Given the description of an element on the screen output the (x, y) to click on. 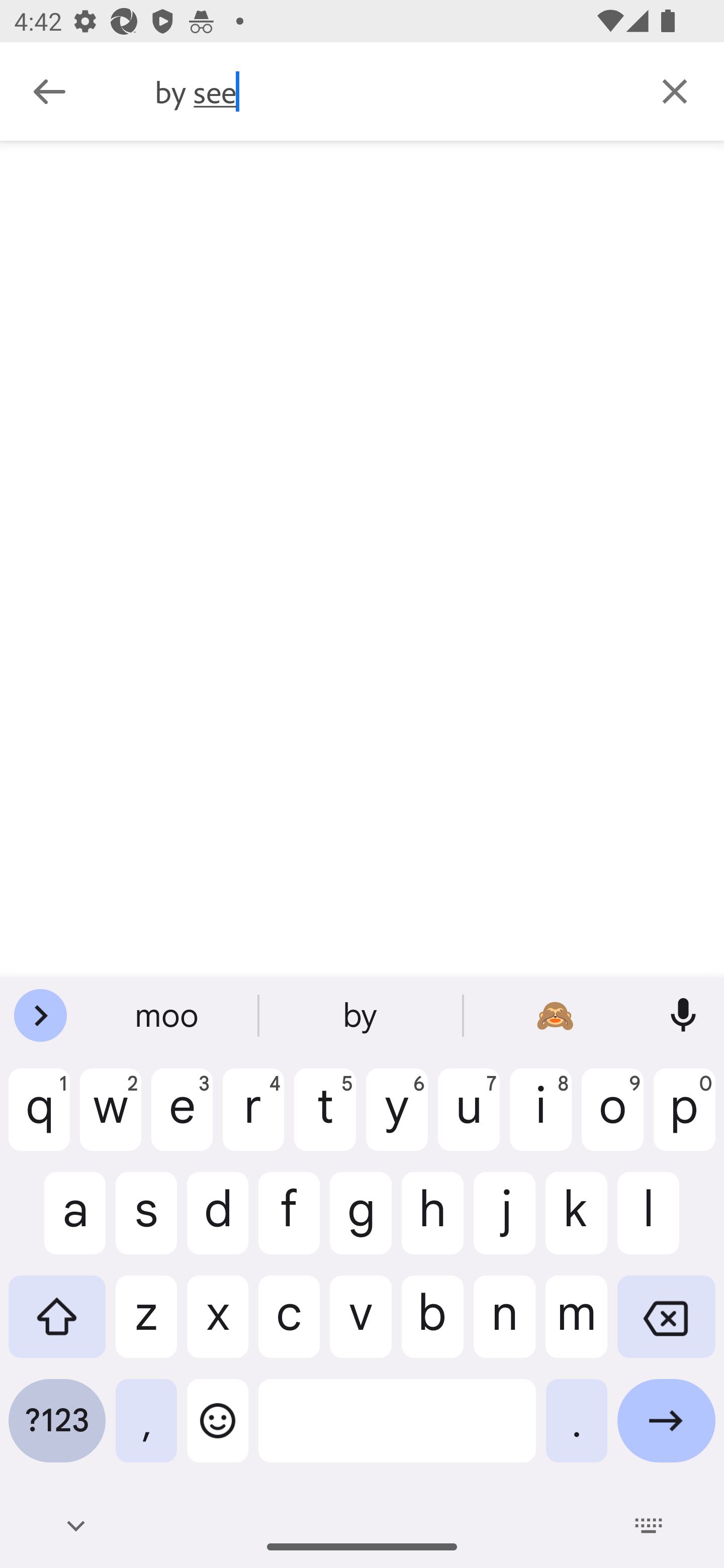
Navigate up (49, 91)
Clear query (674, 90)
by see (389, 91)
